Given the description of an element on the screen output the (x, y) to click on. 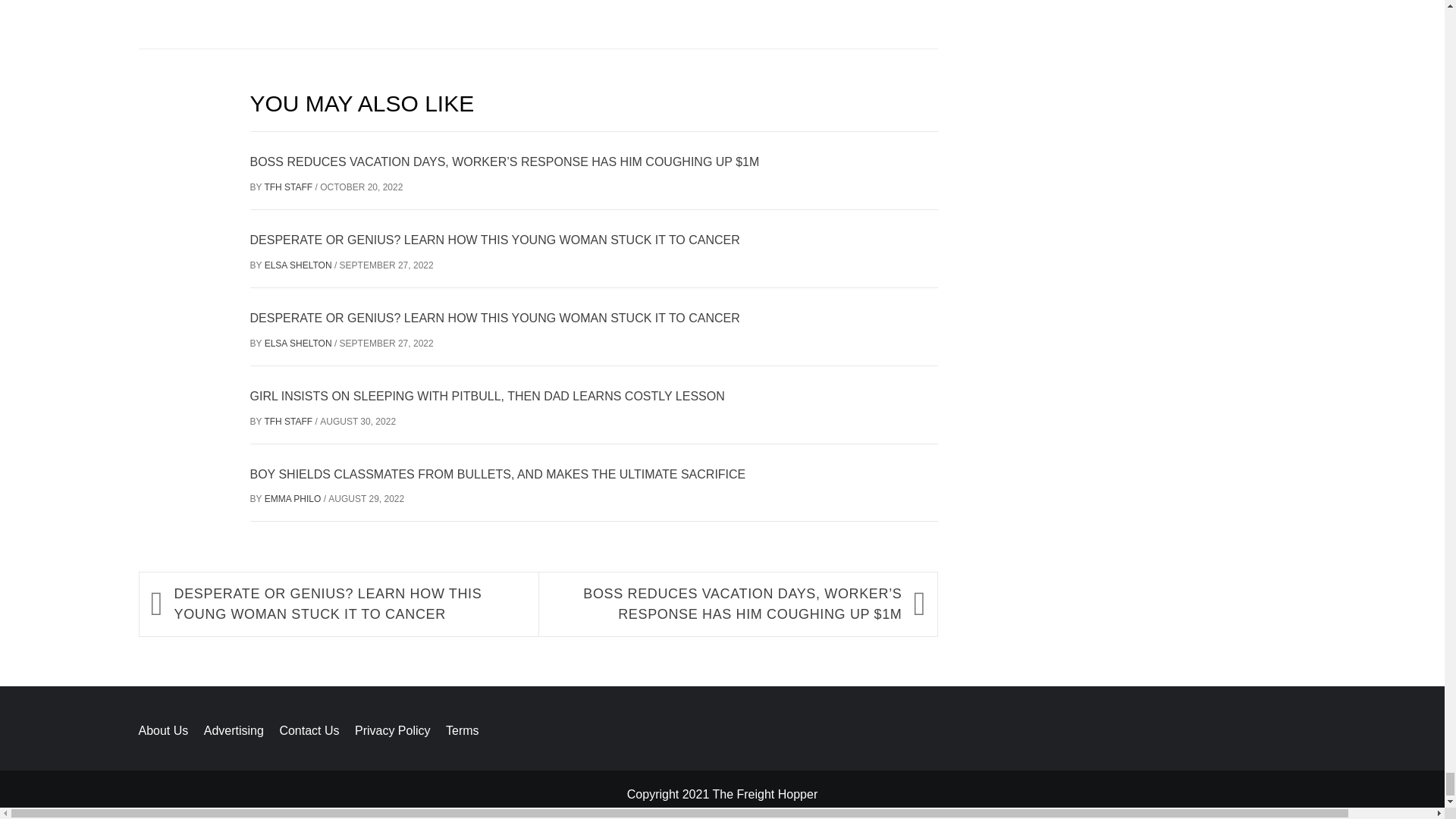
TFH STAFF (288, 186)
ELSA SHELTON (299, 265)
EMMA PHILO (293, 498)
TFH STAFF (288, 421)
ELSA SHELTON (299, 343)
